Given the description of an element on the screen output the (x, y) to click on. 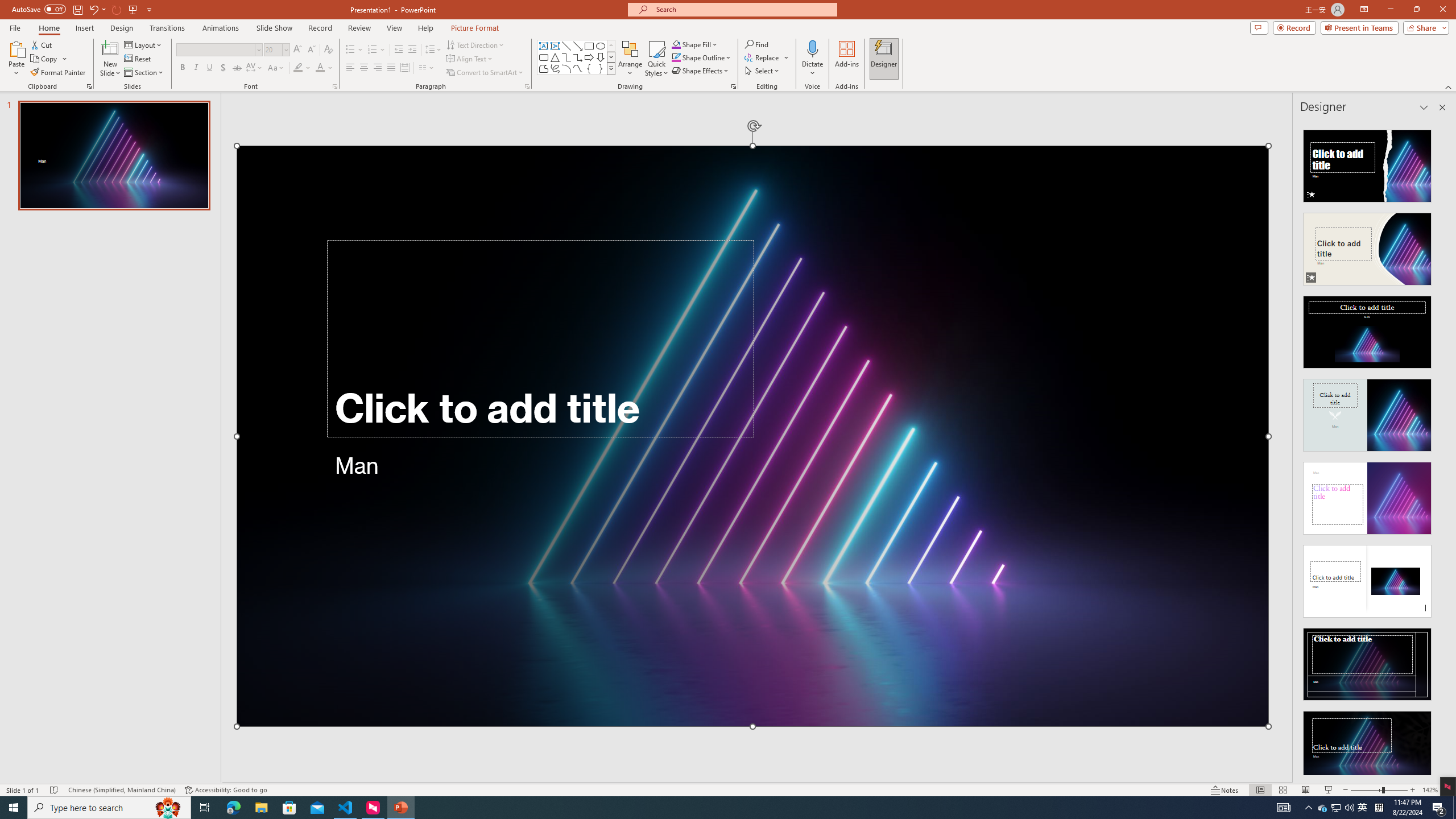
Shape Outline Blue, Accent 1 (675, 56)
